Given the description of an element on the screen output the (x, y) to click on. 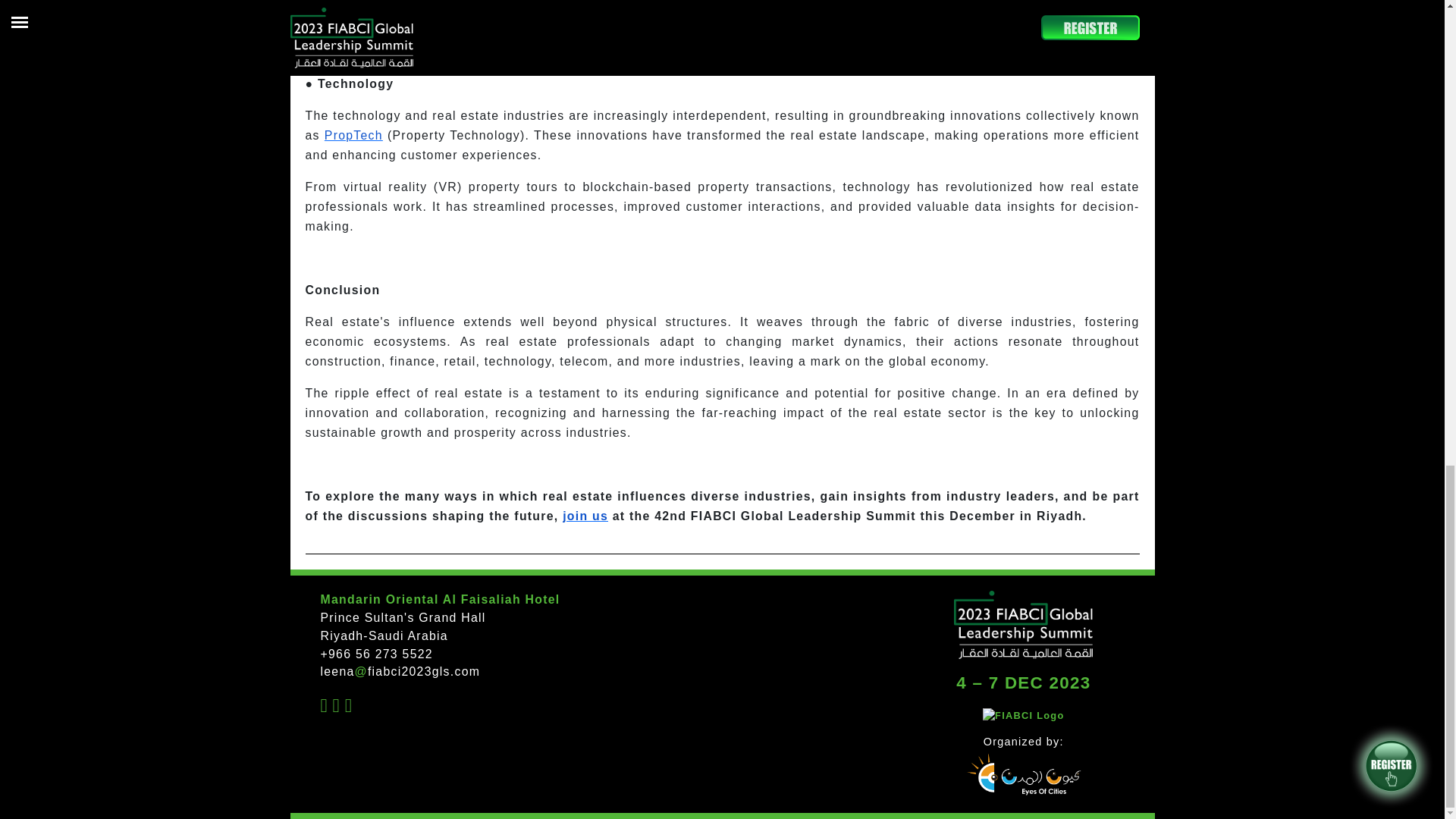
join us (585, 515)
PropTech (353, 134)
